Given the description of an element on the screen output the (x, y) to click on. 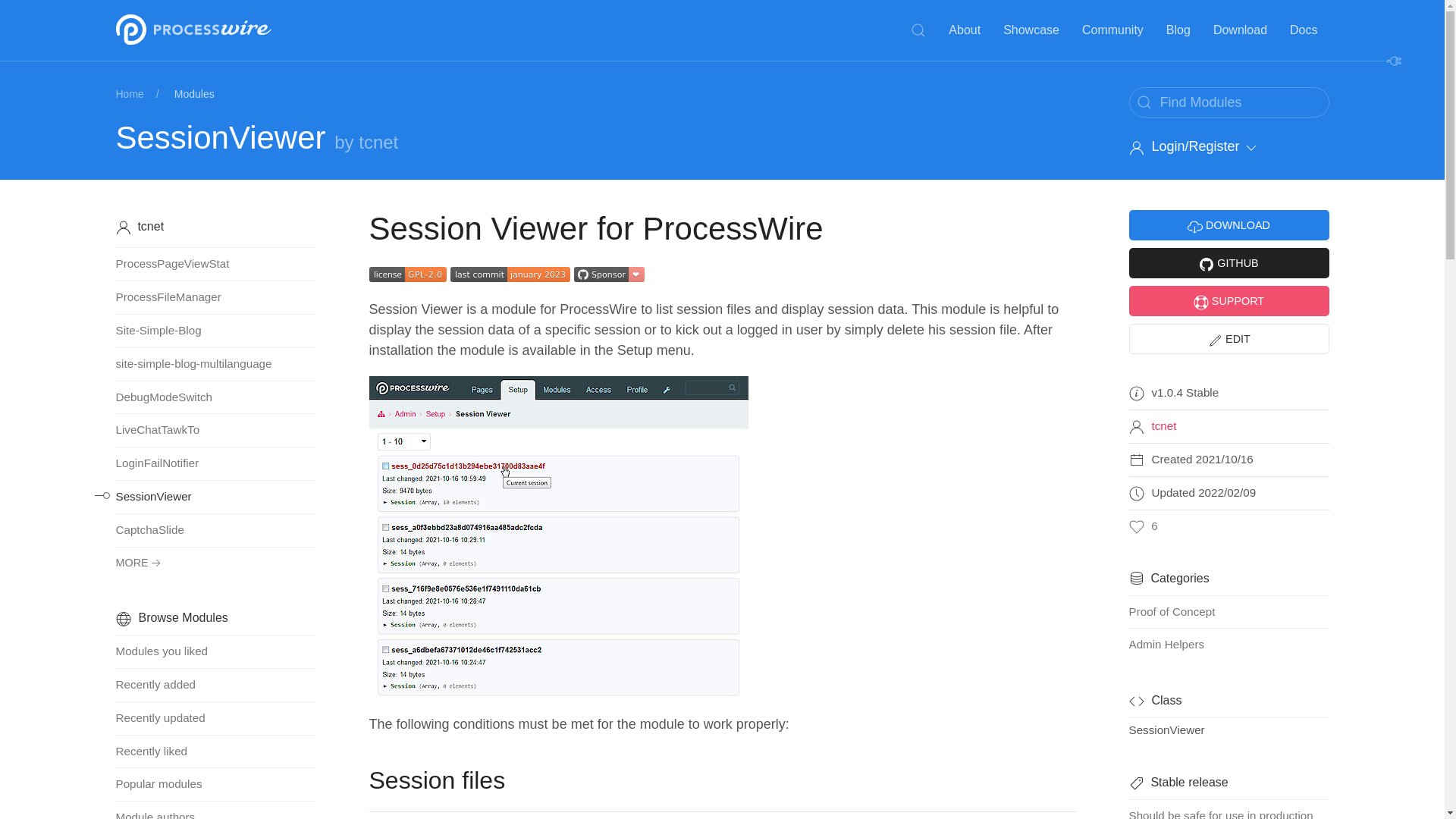
About (964, 30)
Showcase (1030, 30)
ProcessWire (190, 30)
Community (1112, 30)
Download (1240, 30)
